Given the description of an element on the screen output the (x, y) to click on. 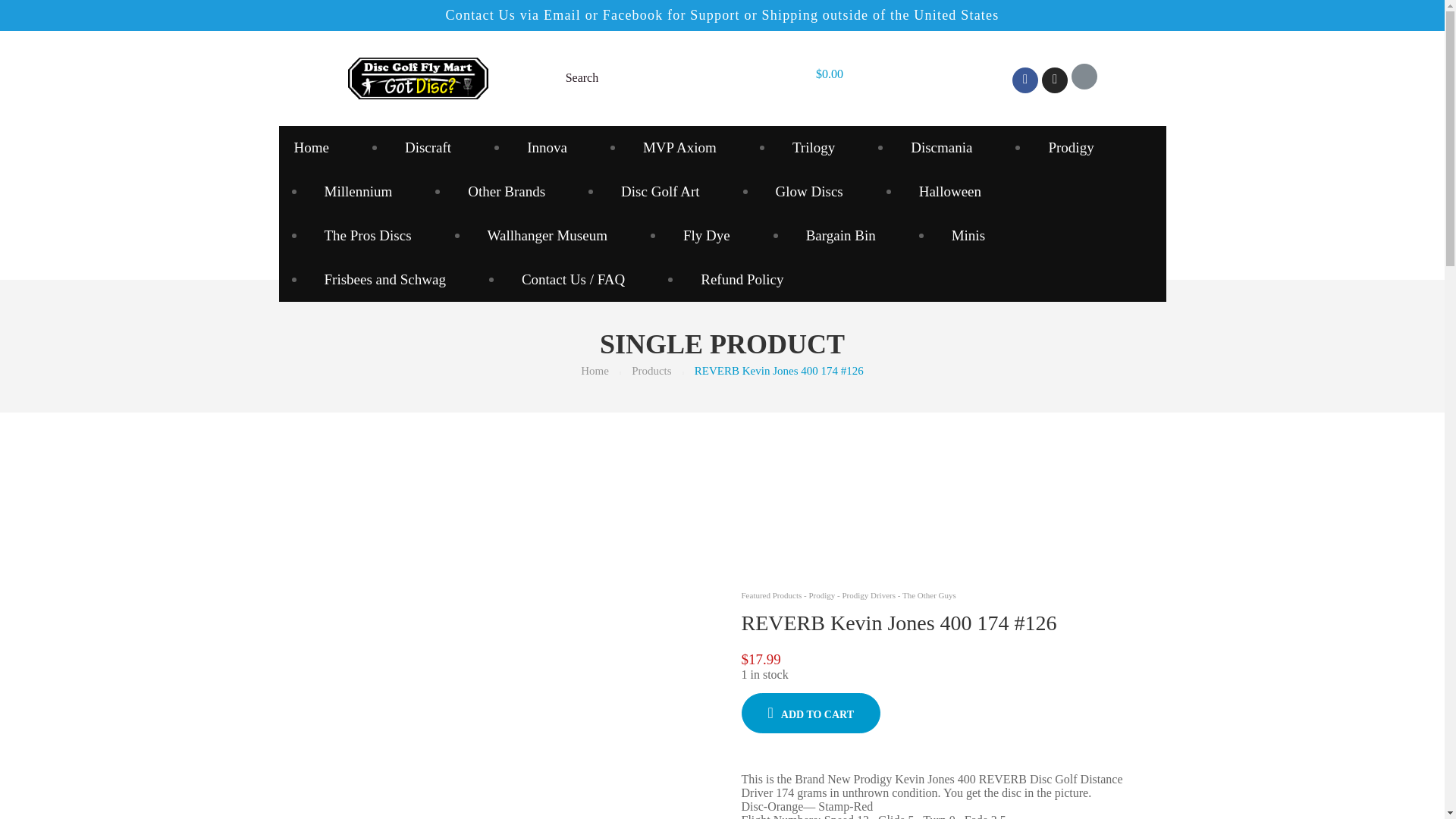
Home (326, 147)
Discraft (427, 147)
Search (585, 77)
Home (594, 369)
